Given the description of an element on the screen output the (x, y) to click on. 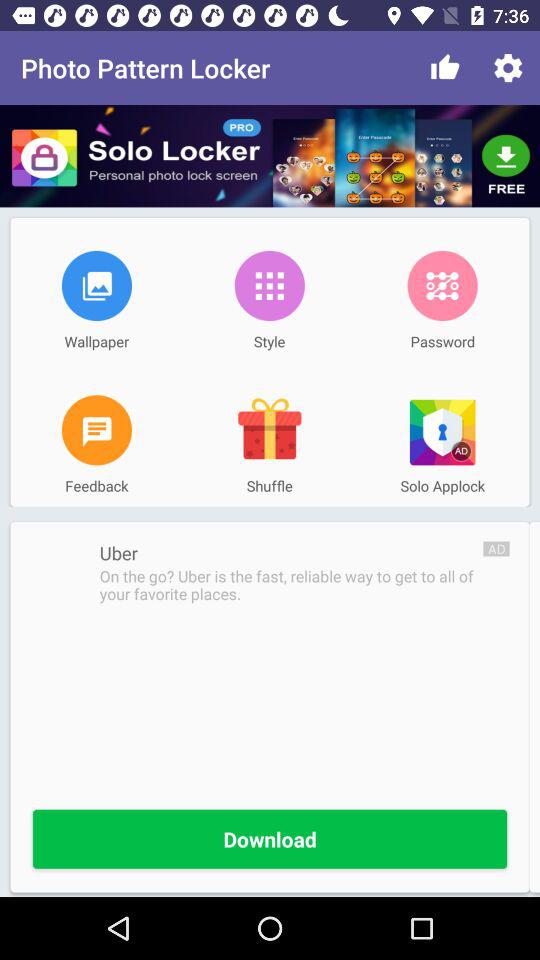
launch item below uber (291, 585)
